Given the description of an element on the screen output the (x, y) to click on. 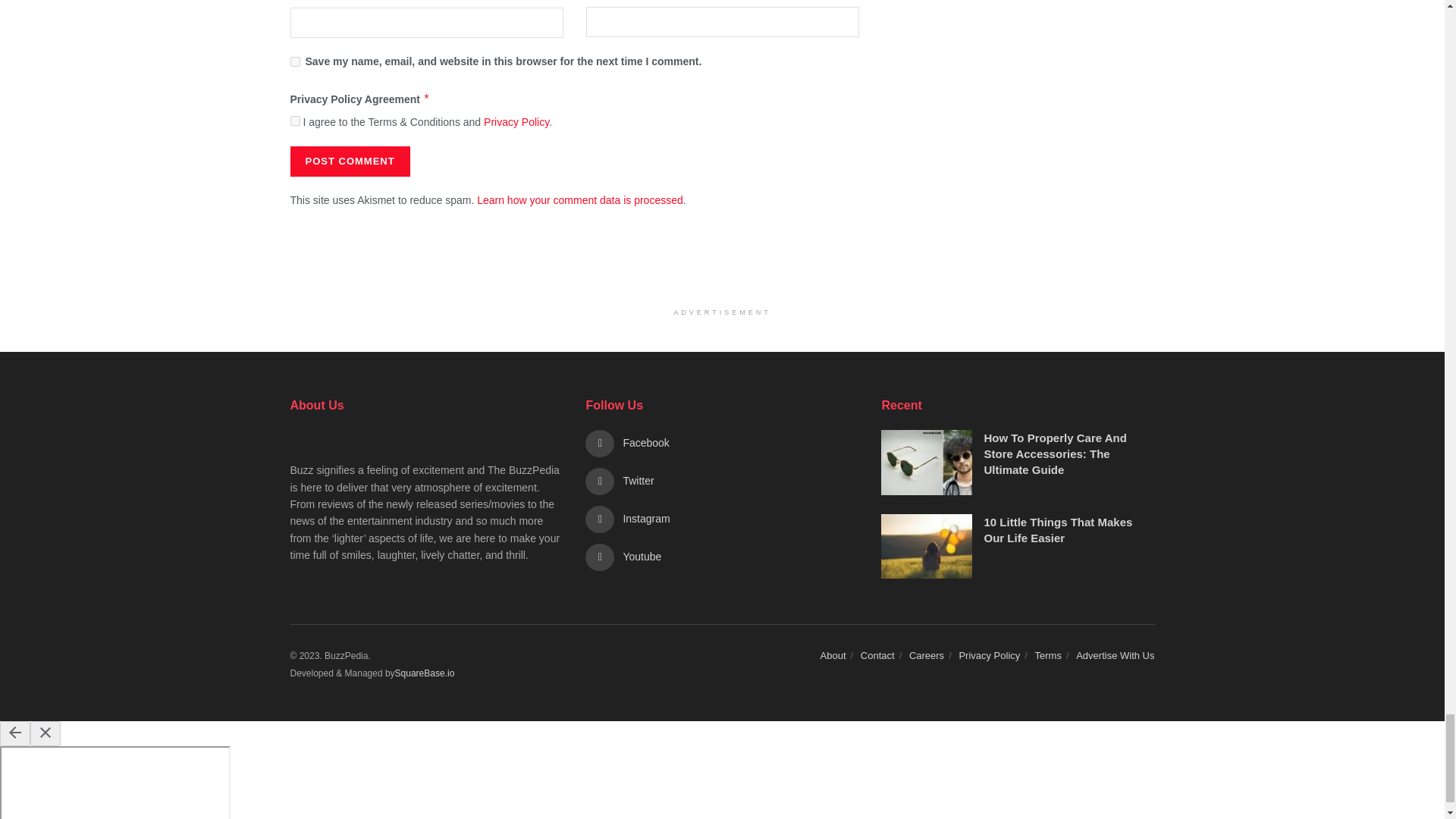
on (294, 121)
yes (294, 61)
Post Comment (349, 161)
